Given the description of an element on the screen output the (x, y) to click on. 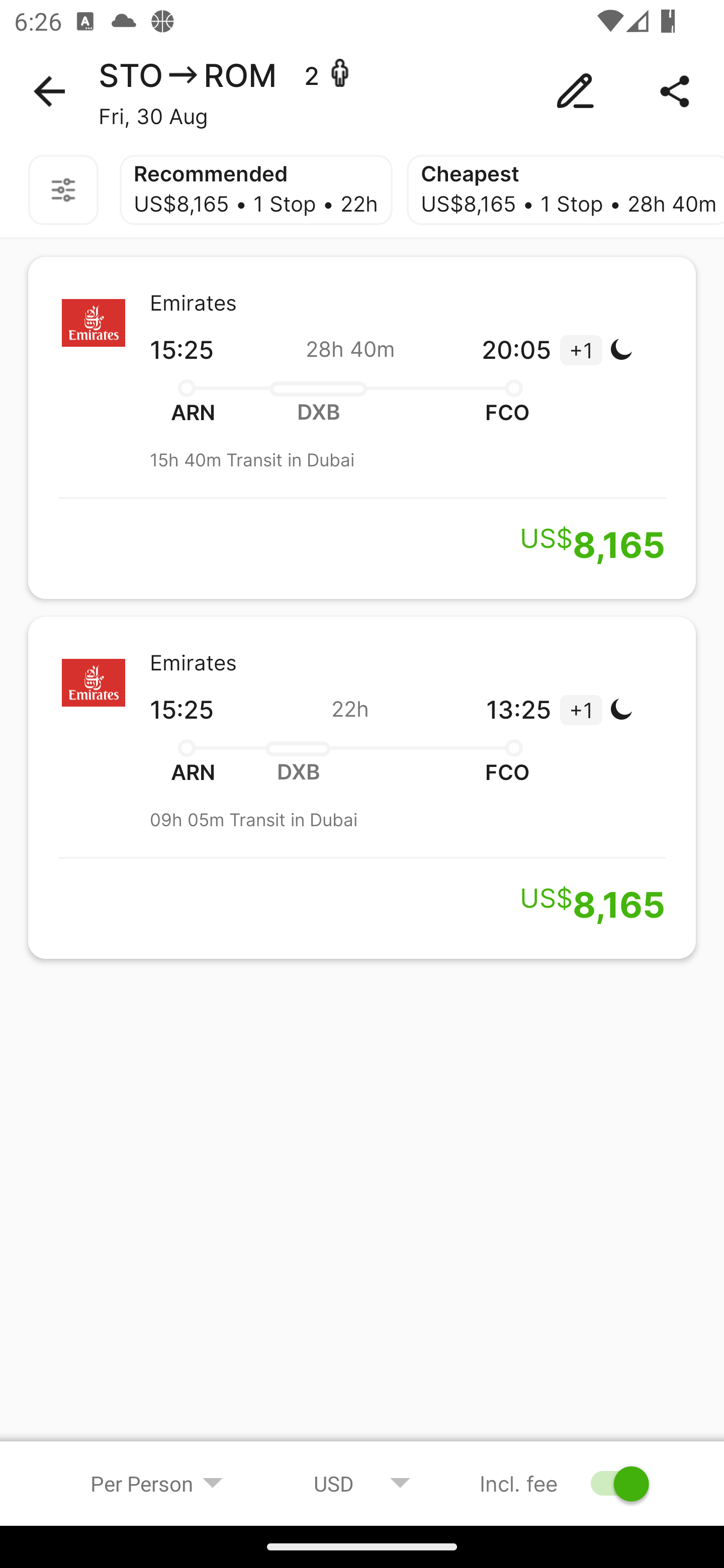
STO ROM   2 - Fri, 30 Aug (361, 91)
Recommended  US$8,165 • 1 Stop • 22h (255, 190)
Cheapest US$8,165 • 1 Stop • 28h 40m (565, 190)
Per Person (156, 1482)
USD (361, 1482)
